Given the description of an element on the screen output the (x, y) to click on. 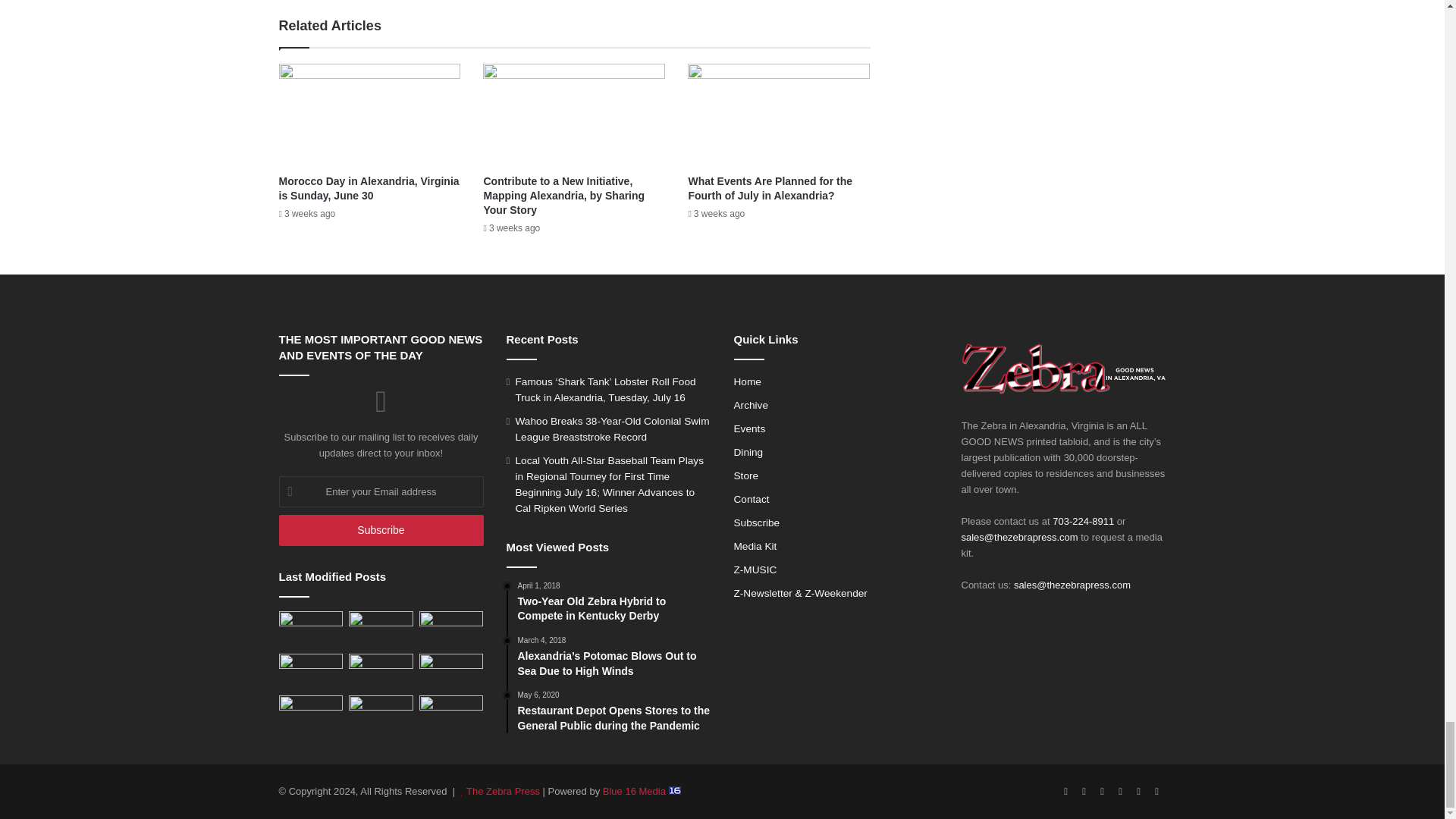
Subscribe (381, 530)
